Given the description of an element on the screen output the (x, y) to click on. 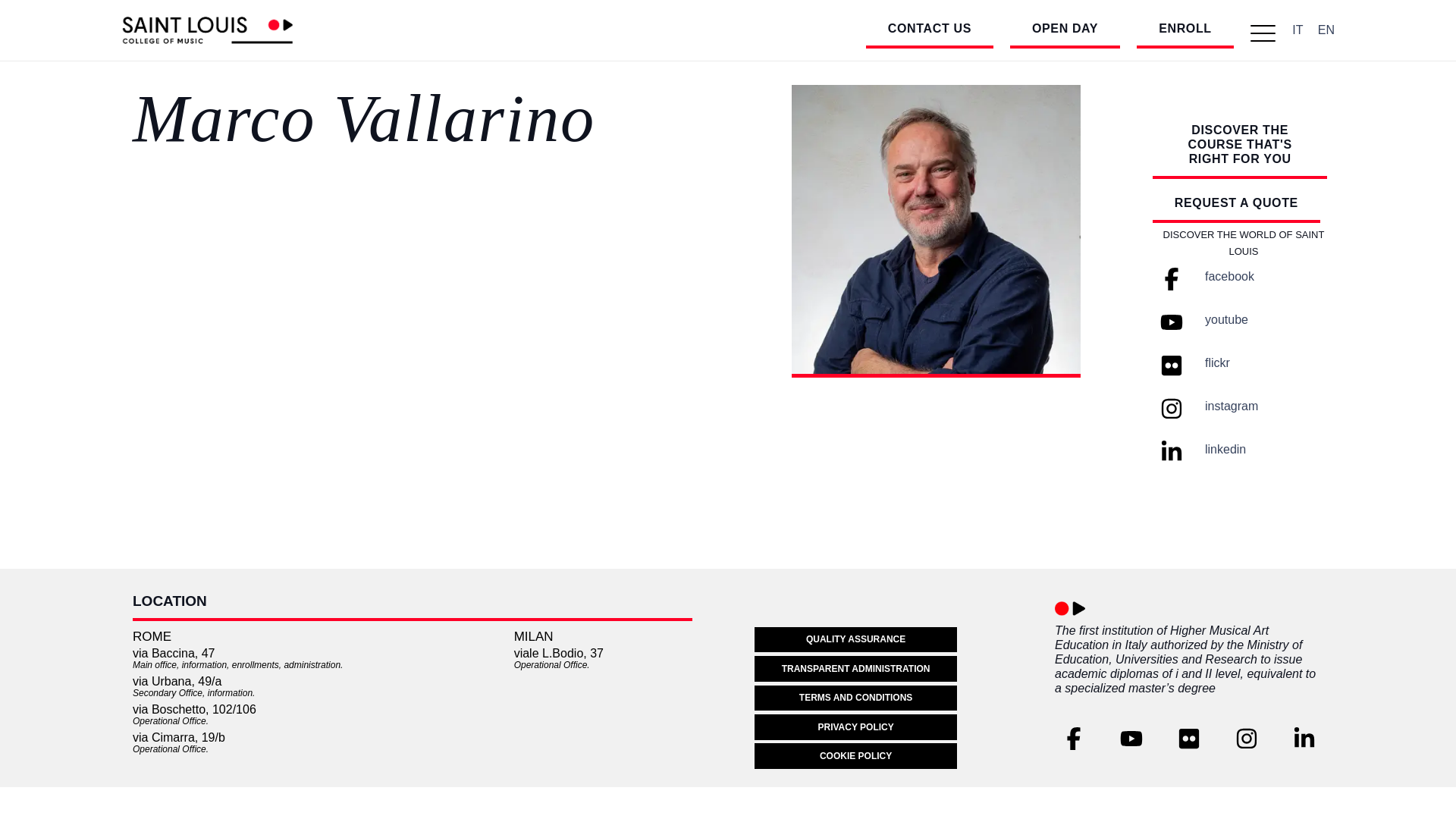
CONTACT US (929, 30)
OPEN DAY (1064, 30)
ENROLL (1185, 30)
